Given the description of an element on the screen output the (x, y) to click on. 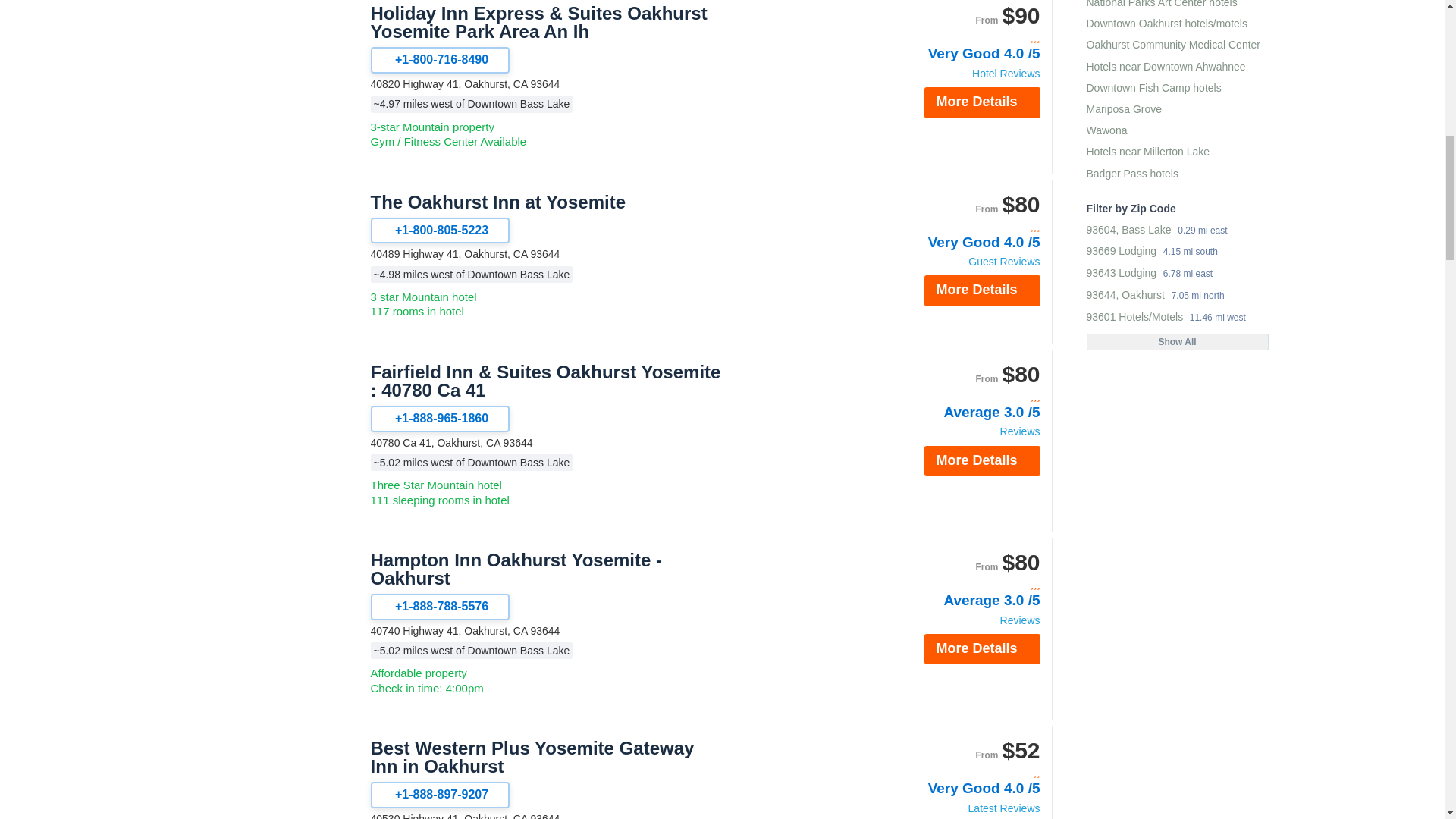
3 stars (958, 226)
2 stars (958, 772)
3 stars (958, 396)
3 stars (958, 38)
3 stars (958, 584)
